Given the description of an element on the screen output the (x, y) to click on. 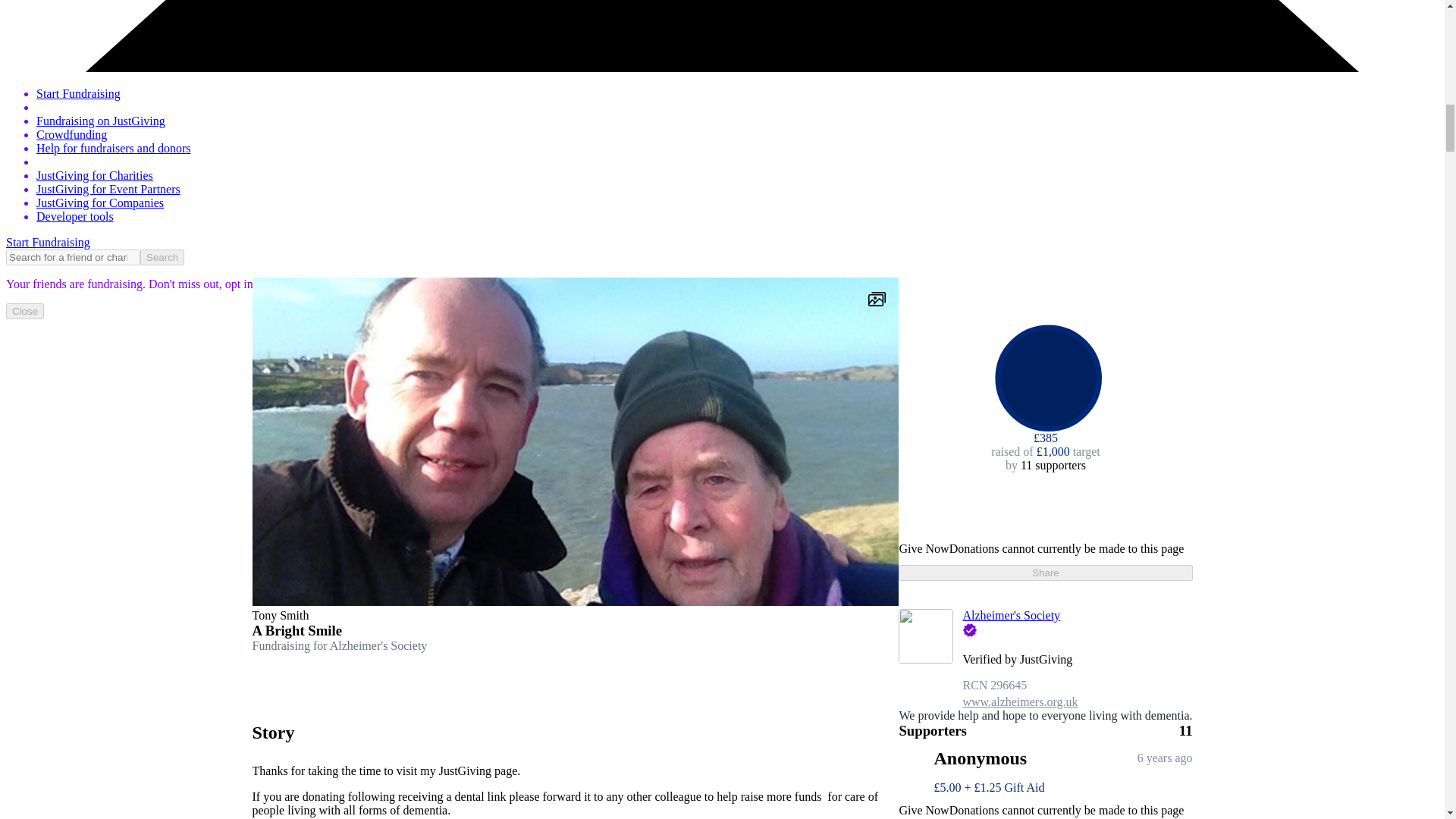
JustGiving for Companies (99, 202)
Developer tools (74, 215)
Search (161, 257)
Alzheimer's Society (1010, 615)
JustGiving for Charities (94, 174)
Search (161, 257)
Close (24, 311)
Search (161, 257)
Fundraising on JustGiving (100, 120)
Start Fundraising (47, 241)
